Given the description of an element on the screen output the (x, y) to click on. 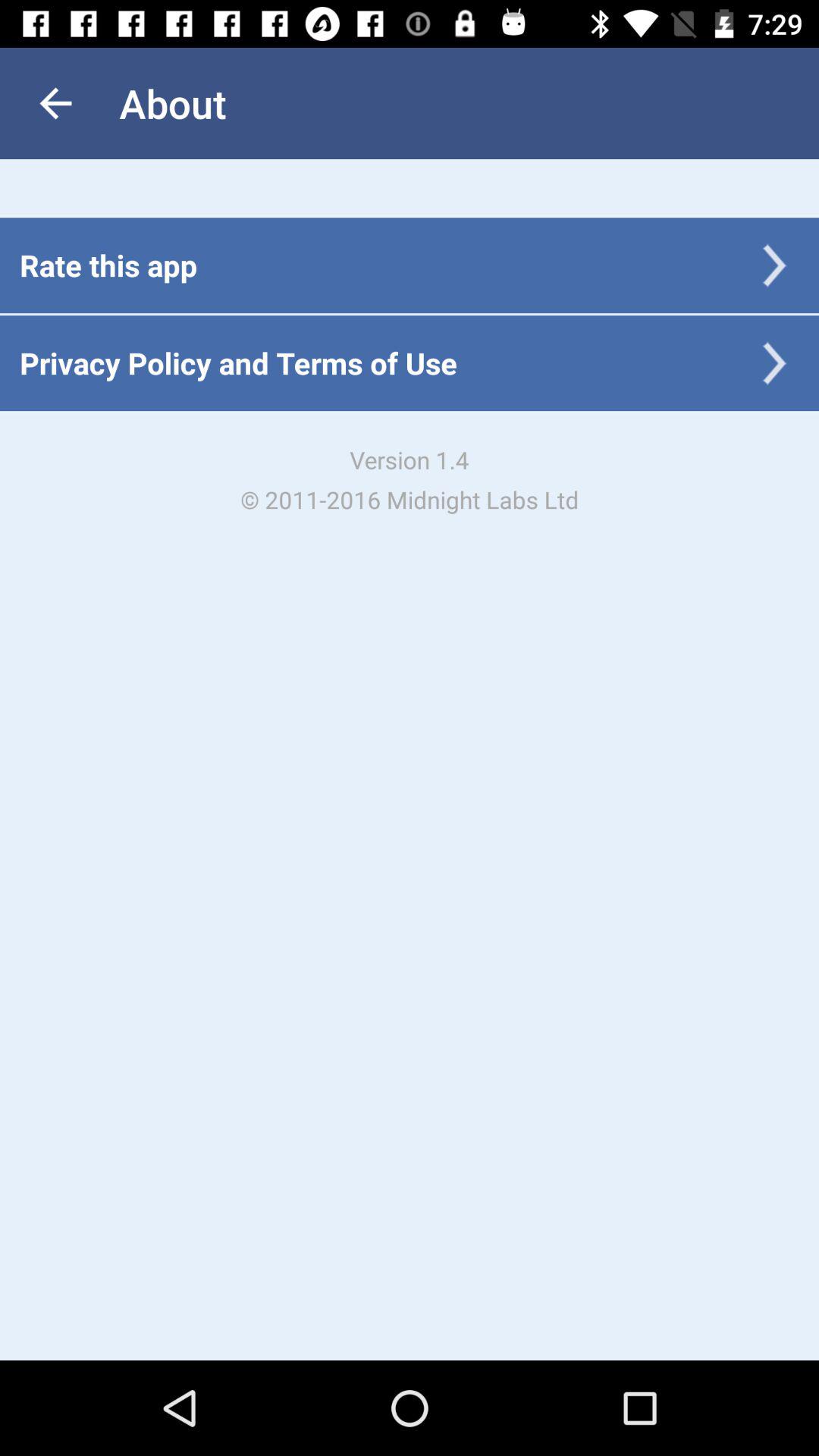
scroll to privacy policy and (238, 362)
